Given the description of an element on the screen output the (x, y) to click on. 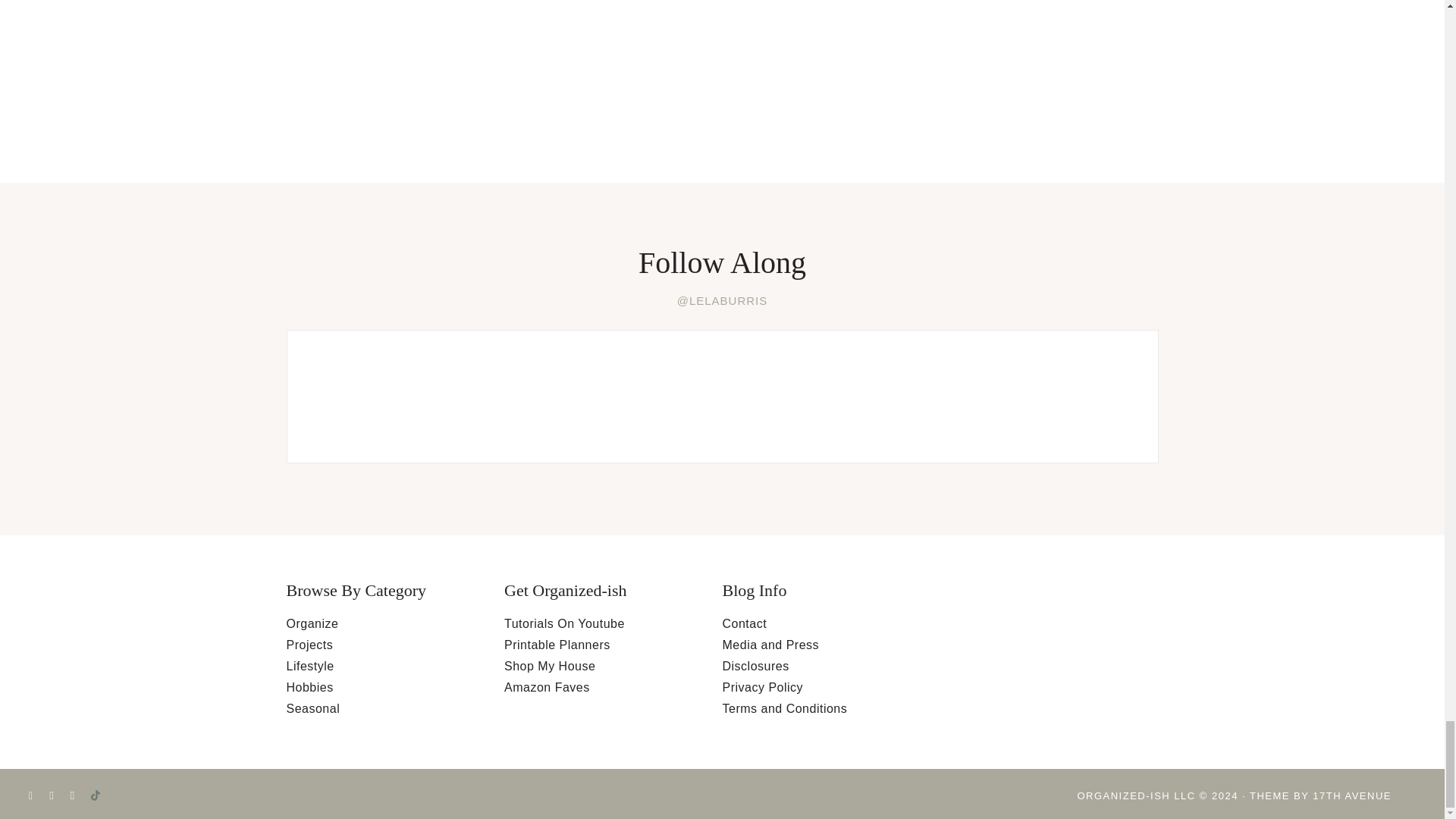
Comment Form (575, 49)
